Given the description of an element on the screen output the (x, y) to click on. 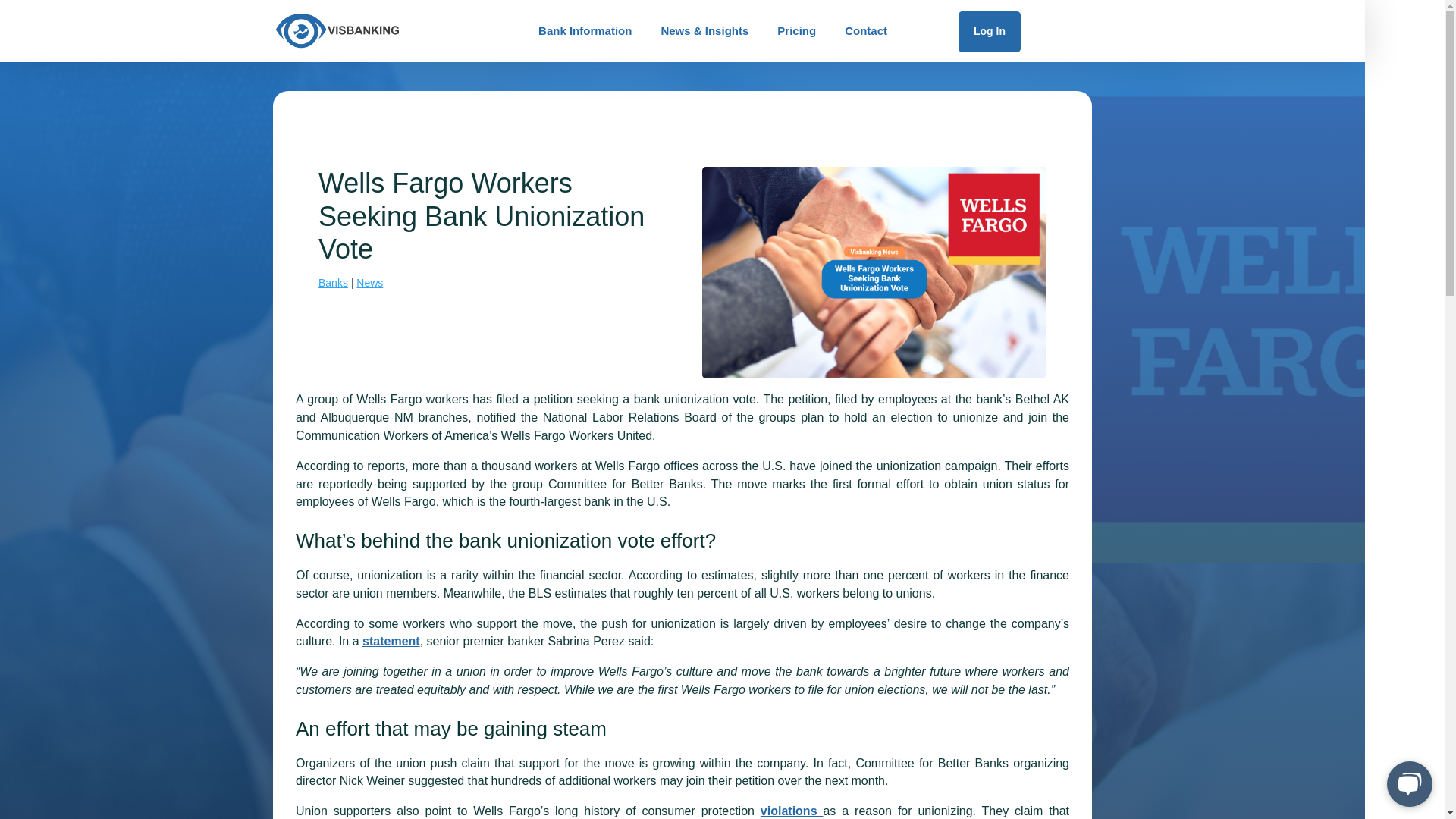
Bank Information (584, 30)
statement (391, 640)
News (369, 282)
visbanking news (873, 272)
violations (792, 810)
Log In (989, 31)
Banks (332, 282)
